Given the description of an element on the screen output the (x, y) to click on. 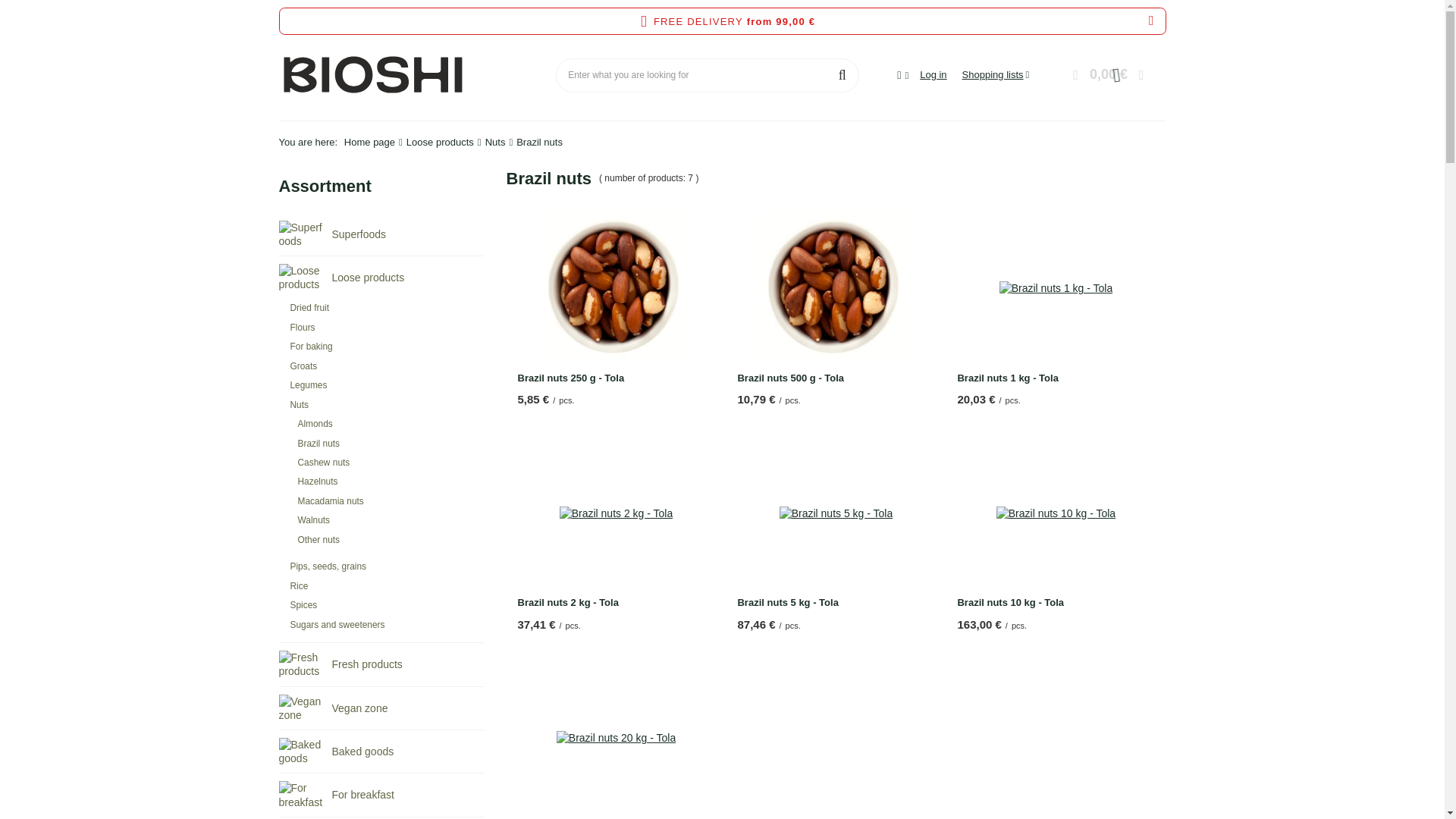
Loose products (301, 277)
Home page (368, 142)
Loose products (381, 277)
Shopping lists (995, 74)
Loose products (440, 142)
Superfoods (381, 233)
Click here to see all categories (325, 185)
Nuts (494, 142)
Log in (933, 74)
Superfoods (301, 233)
